Given the description of an element on the screen output the (x, y) to click on. 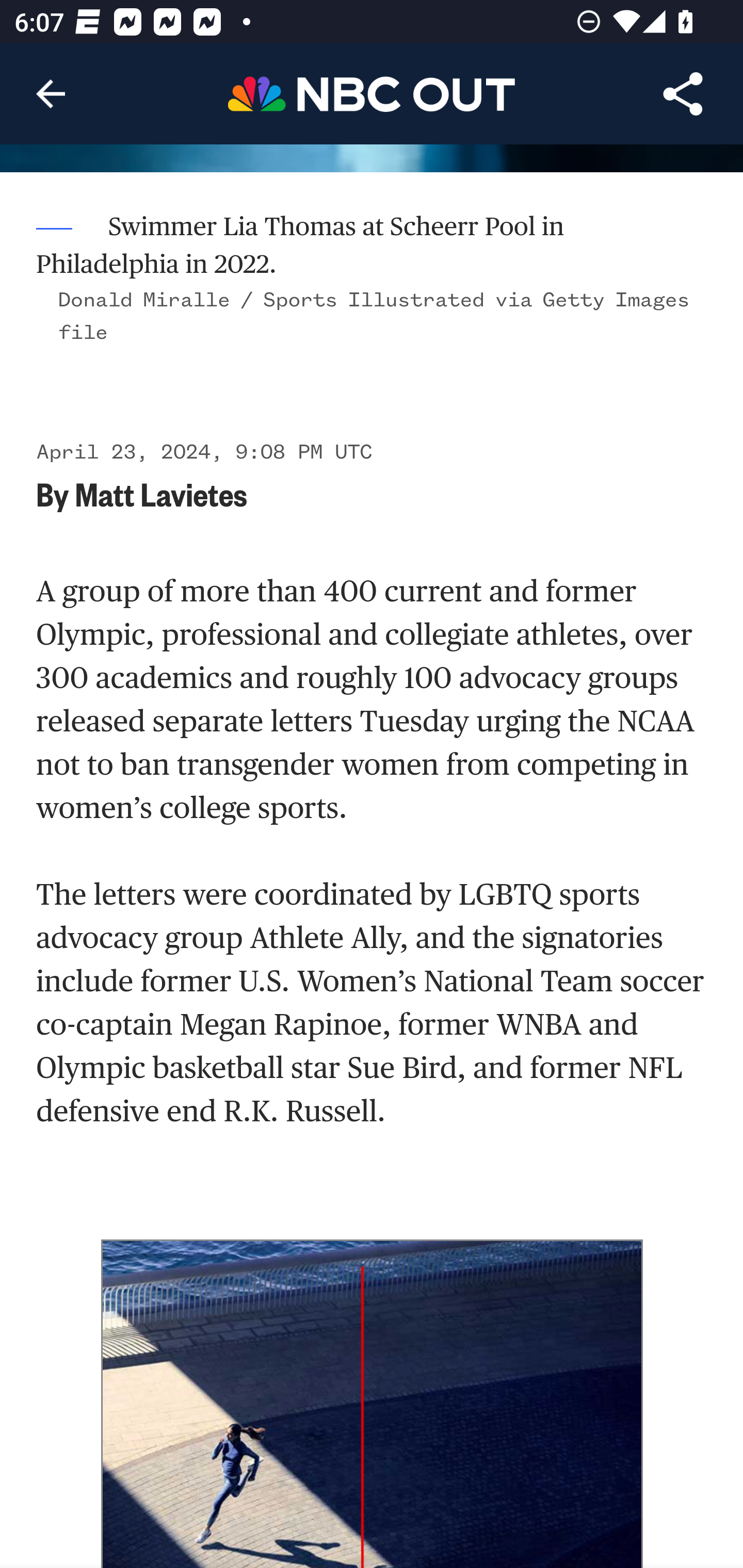
Navigate up (50, 93)
Share Article, button (683, 94)
Header, NBC Out (371, 93)
Matt Lavietes (160, 492)
